Given the description of an element on the screen output the (x, y) to click on. 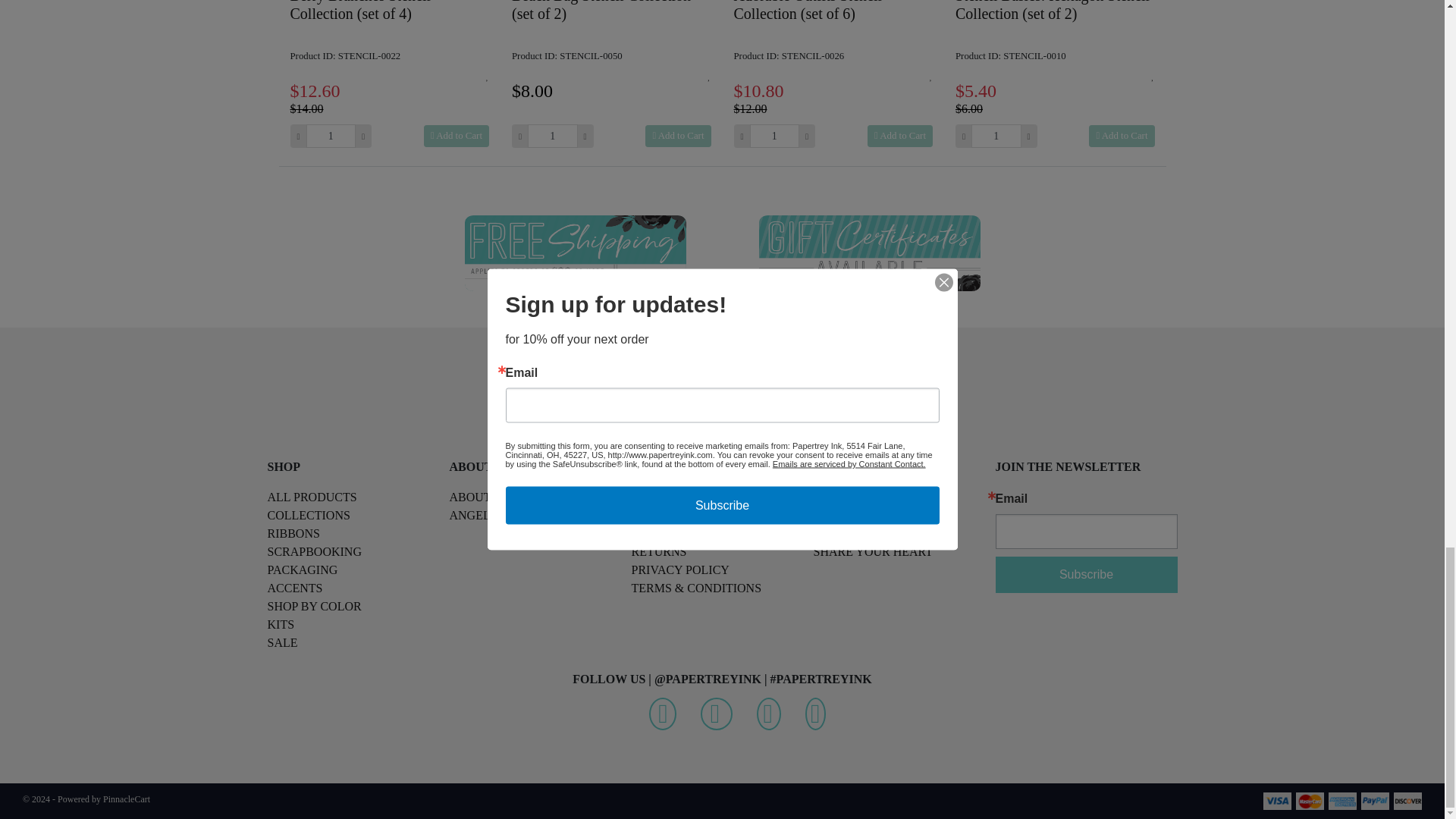
1 (551, 136)
1 (774, 136)
1 (995, 136)
1 (330, 136)
